Given the description of an element on the screen output the (x, y) to click on. 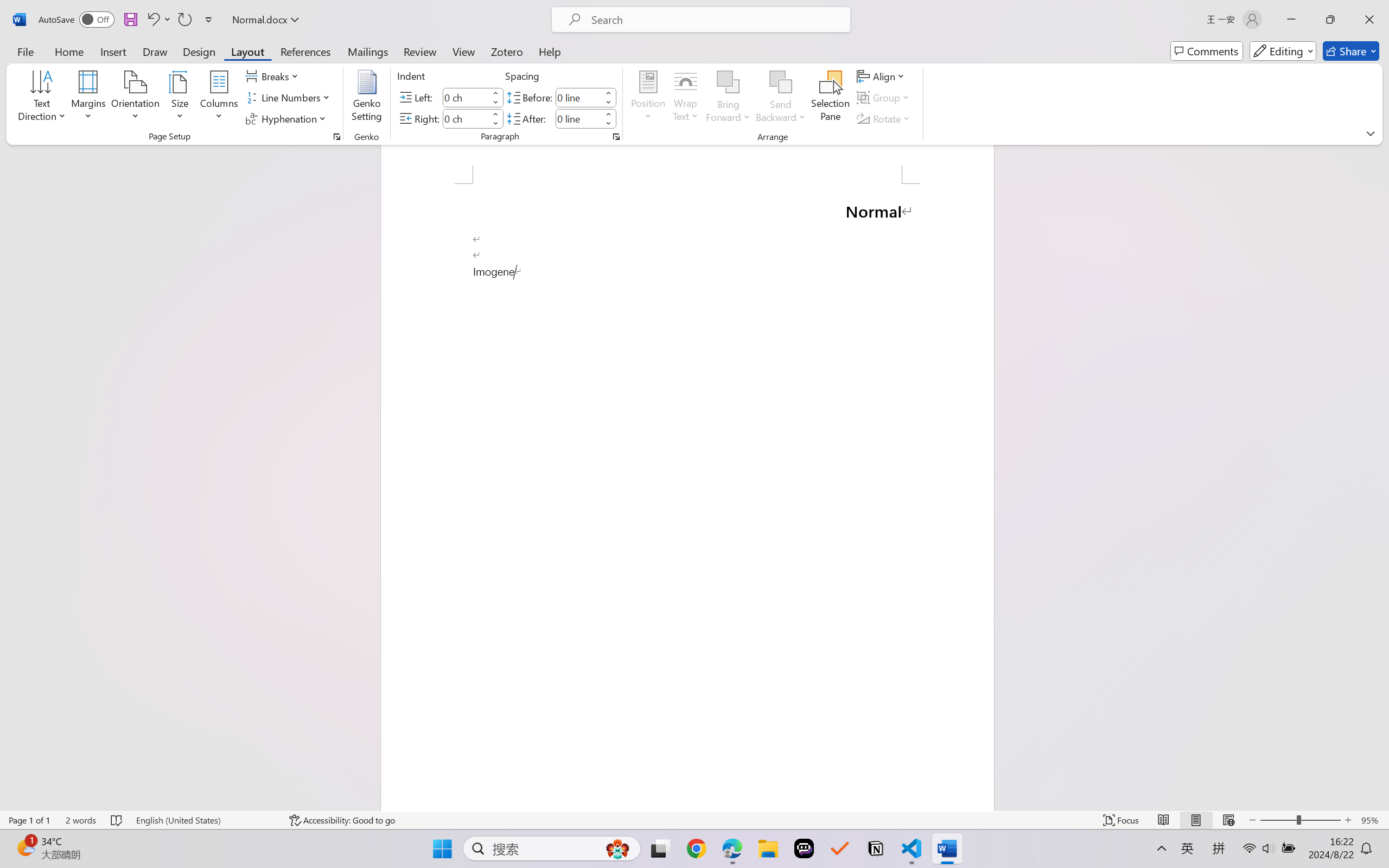
Breaks (273, 75)
Position (647, 97)
Send Backward (781, 97)
Group (884, 97)
Genko Setting... (367, 97)
Align (881, 75)
Send Backward (781, 81)
